Given the description of an element on the screen output the (x, y) to click on. 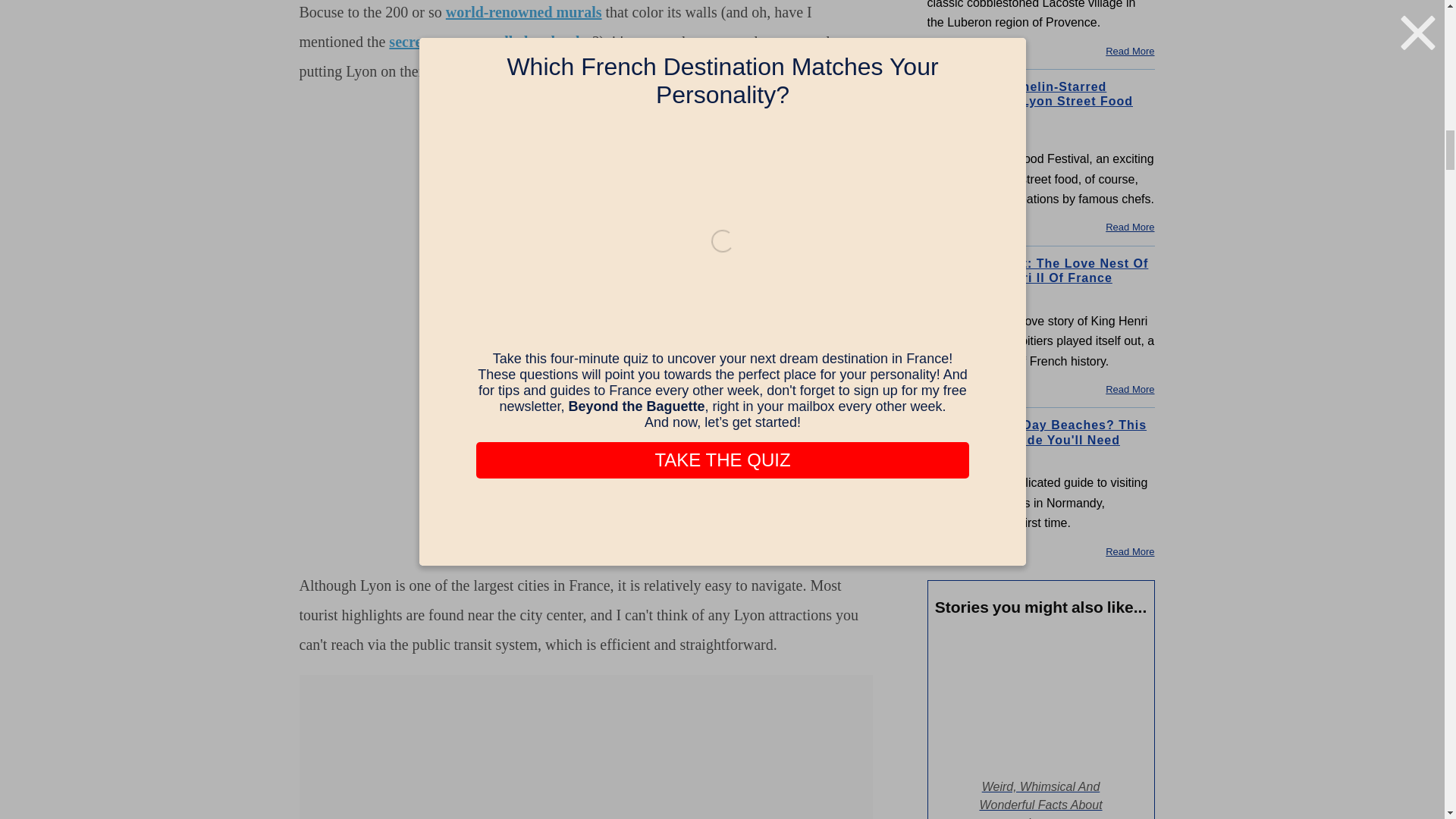
2024-05-21T01:06:49-0400 (966, 457)
2024-06-15T14:17:48-0400 (965, 296)
2024-06-17T01:54:47-0400 (964, 133)
Lyon facts Pralines (1041, 700)
